Given the description of an element on the screen output the (x, y) to click on. 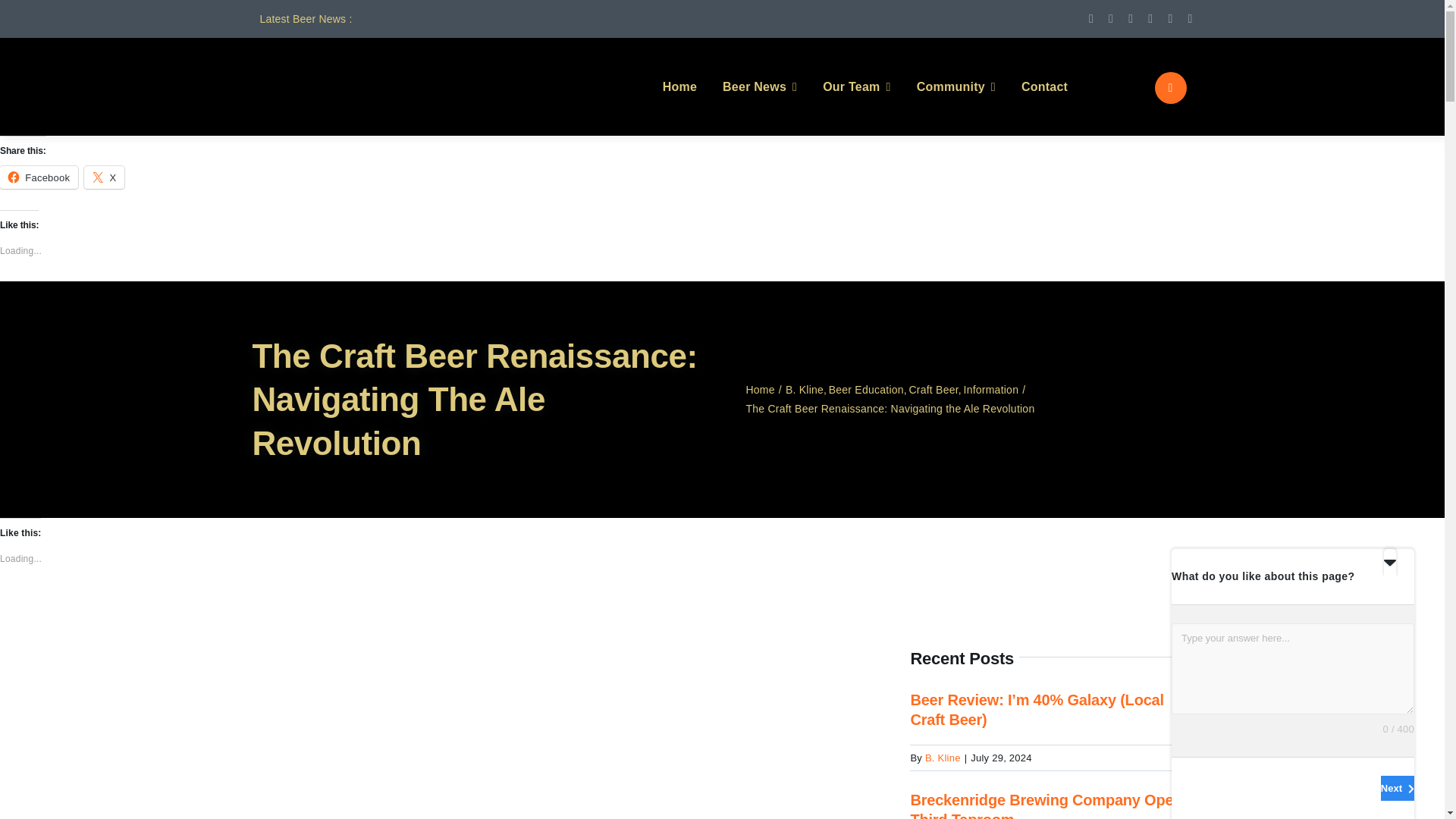
Posts by B. Kline (942, 757)
Beer News (759, 87)
Click to share on Facebook (39, 177)
Craft Beer on a Bar (557, 651)
Click to share on X (103, 177)
